Given the description of an element on the screen output the (x, y) to click on. 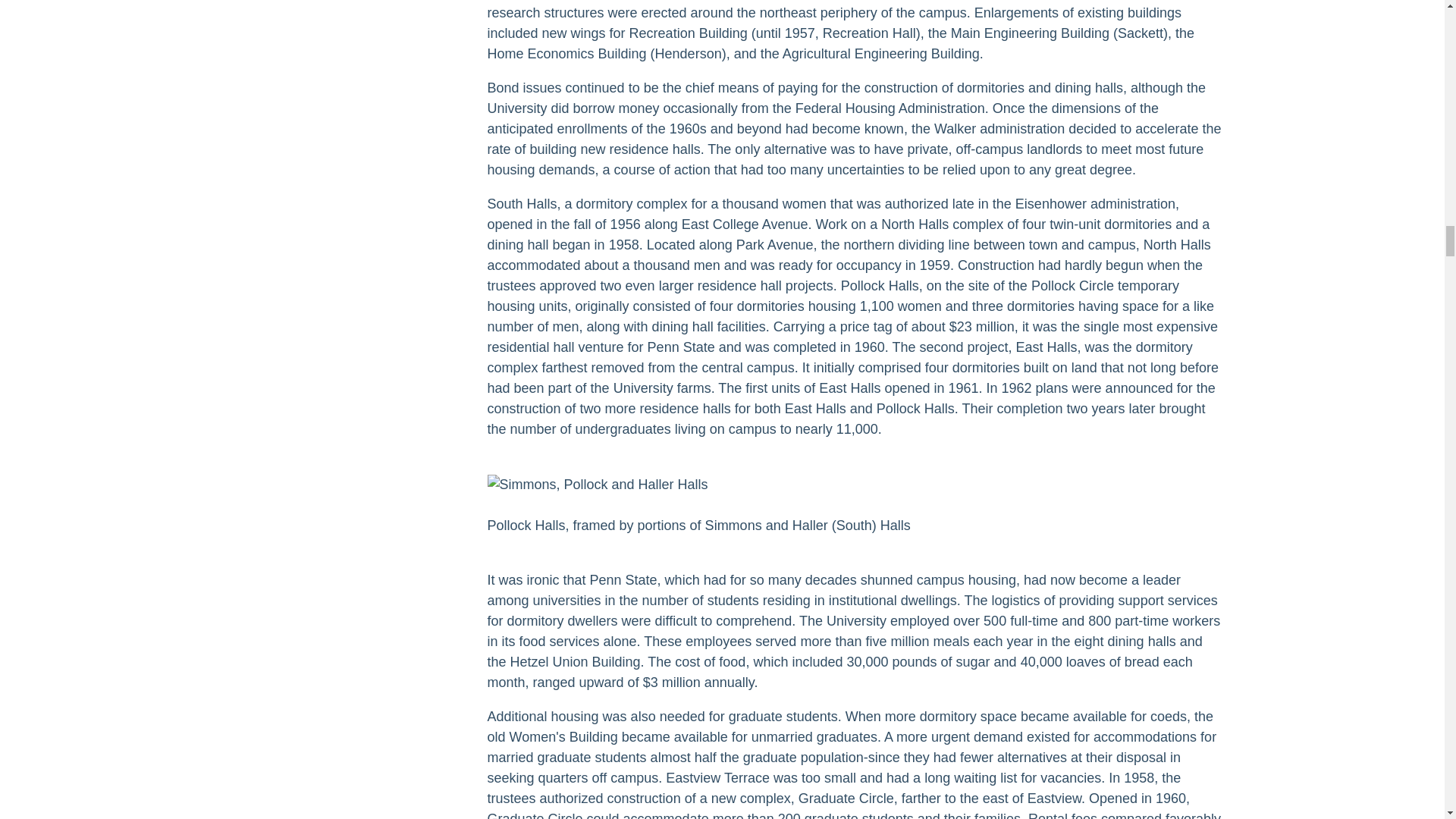
1288276379639.jpg (596, 485)
